Given the description of an element on the screen output the (x, y) to click on. 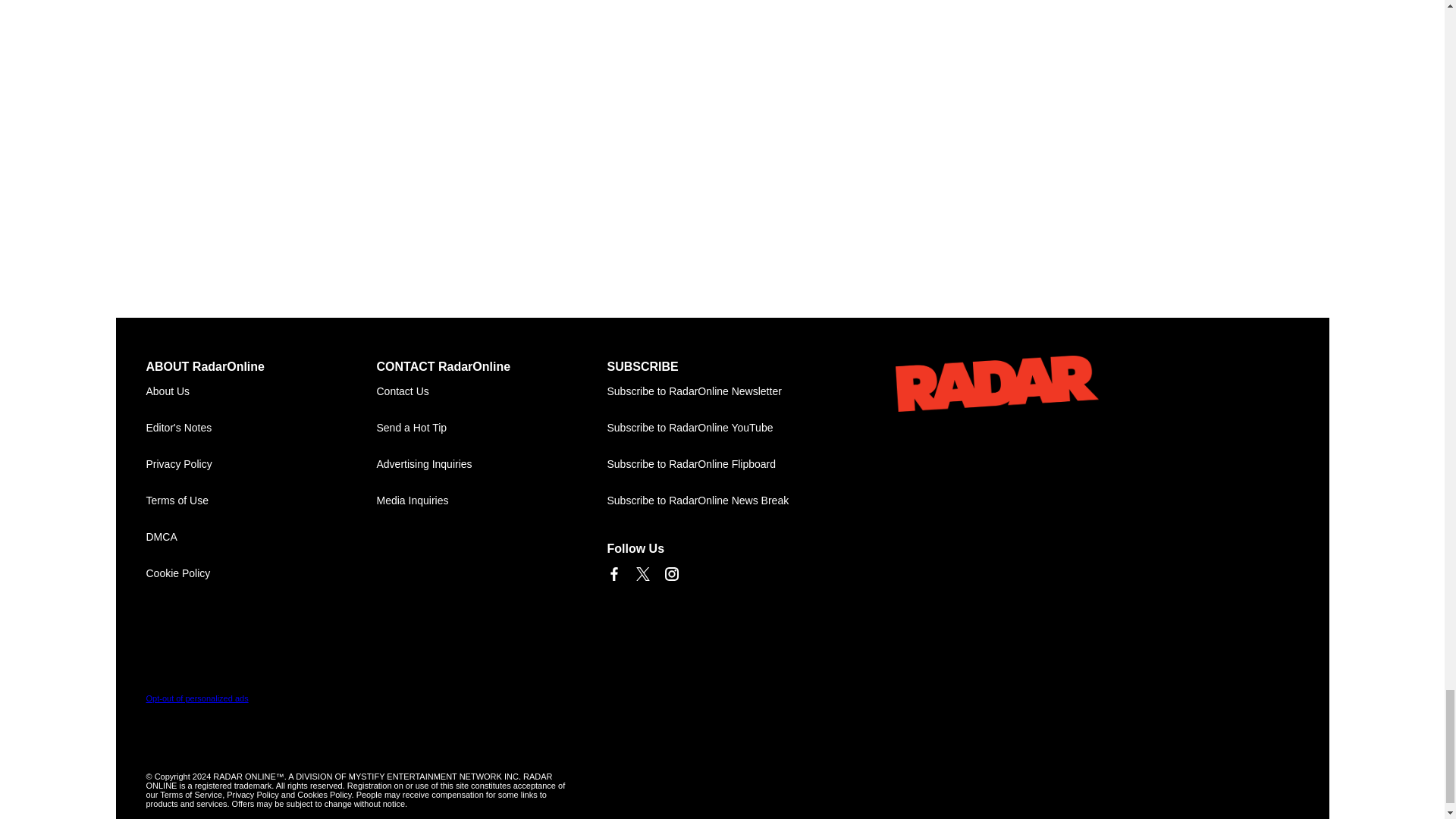
Send a Hot Tip (491, 428)
Advertising Inquiries (491, 464)
Cookie Policy (260, 574)
Media Inquiries (491, 501)
About Us (260, 391)
Link to Instagram (670, 573)
Editor's Notes (260, 428)
DMCA (260, 537)
Contact Us (491, 391)
Link to Facebook (613, 573)
